Given the description of an element on the screen output the (x, y) to click on. 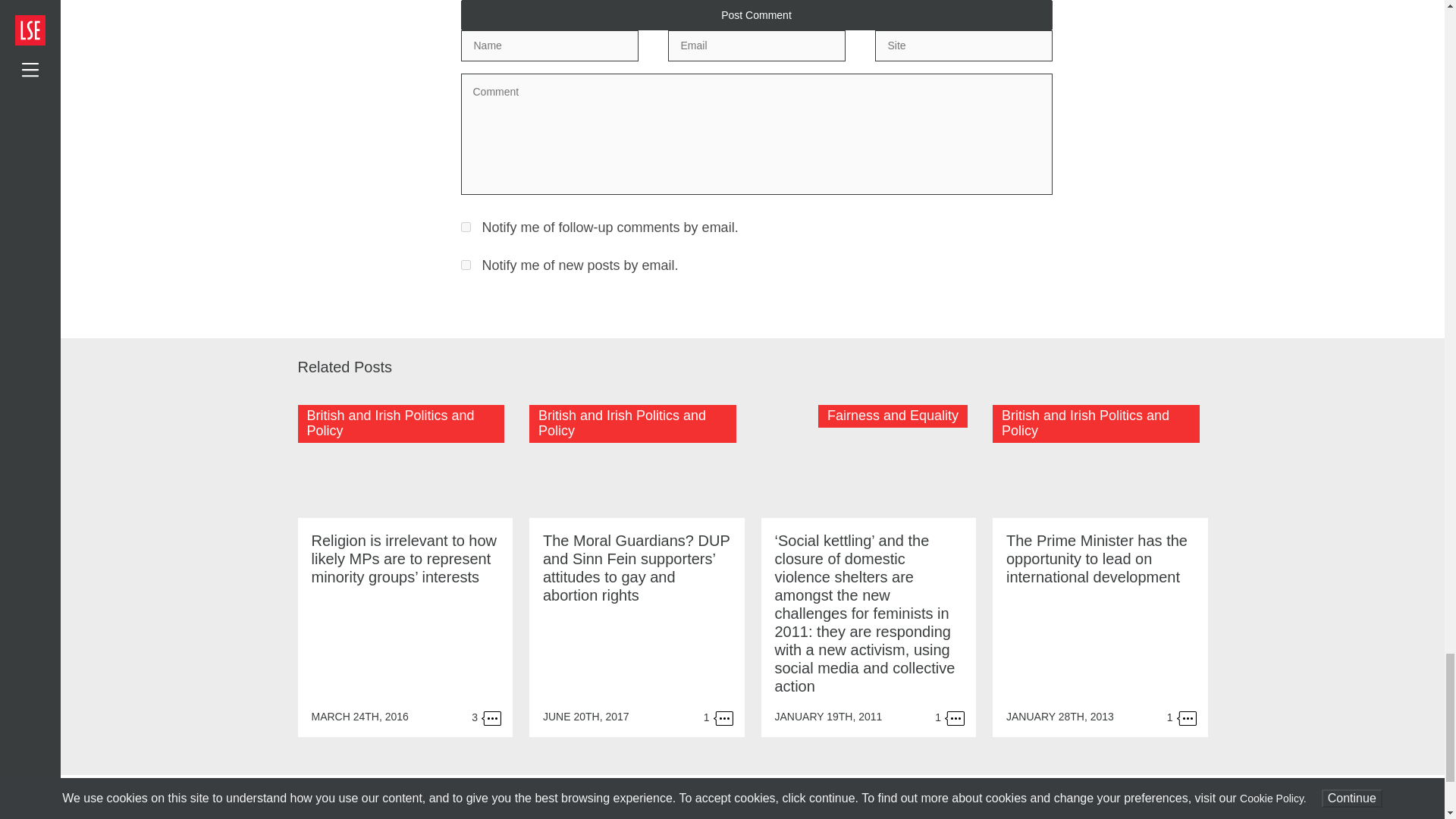
subscribe (465, 226)
subscribe (465, 265)
Post Comment (756, 15)
